Given the description of an element on the screen output the (x, y) to click on. 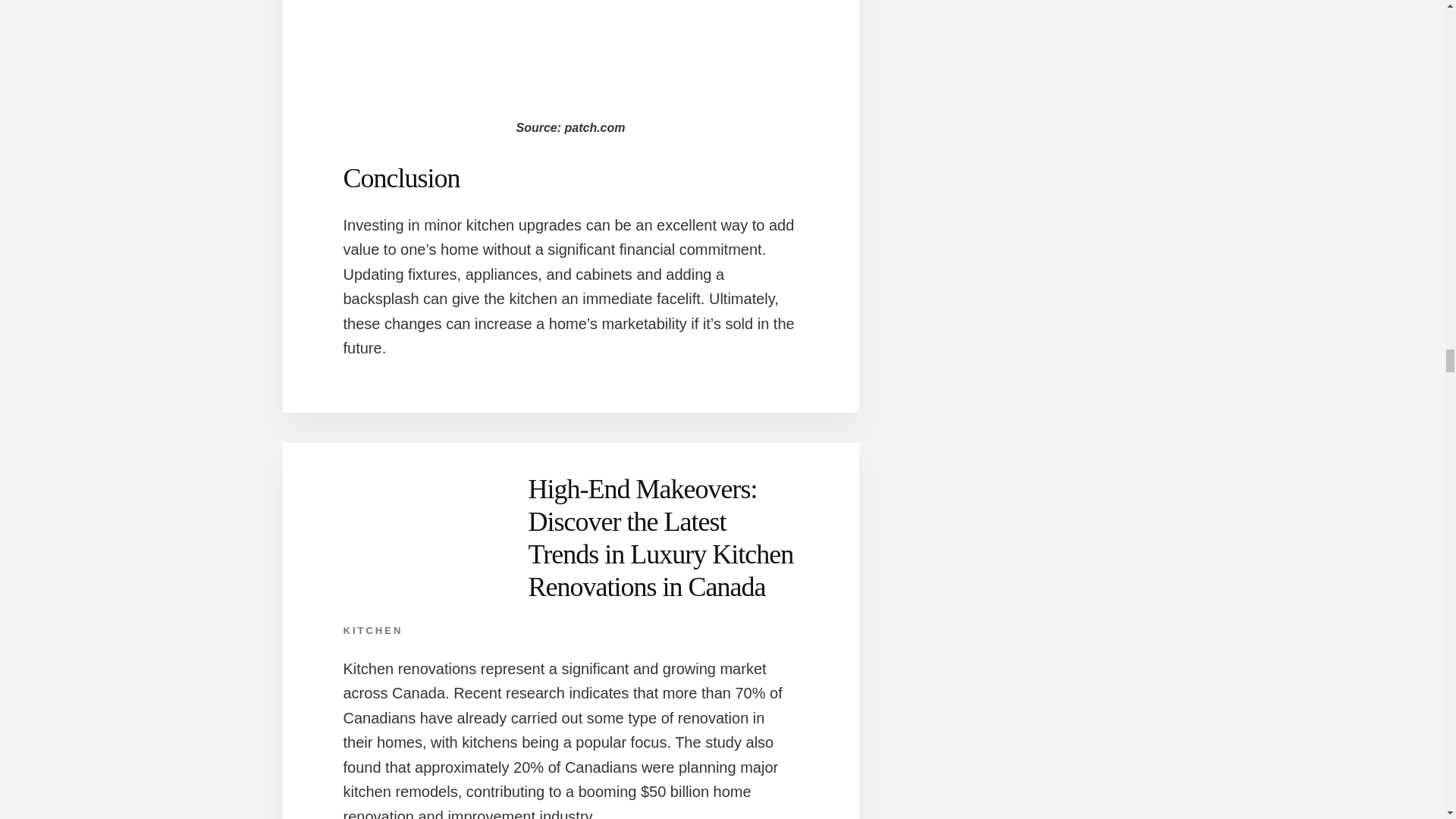
KITCHEN (372, 630)
